Given the description of an element on the screen output the (x, y) to click on. 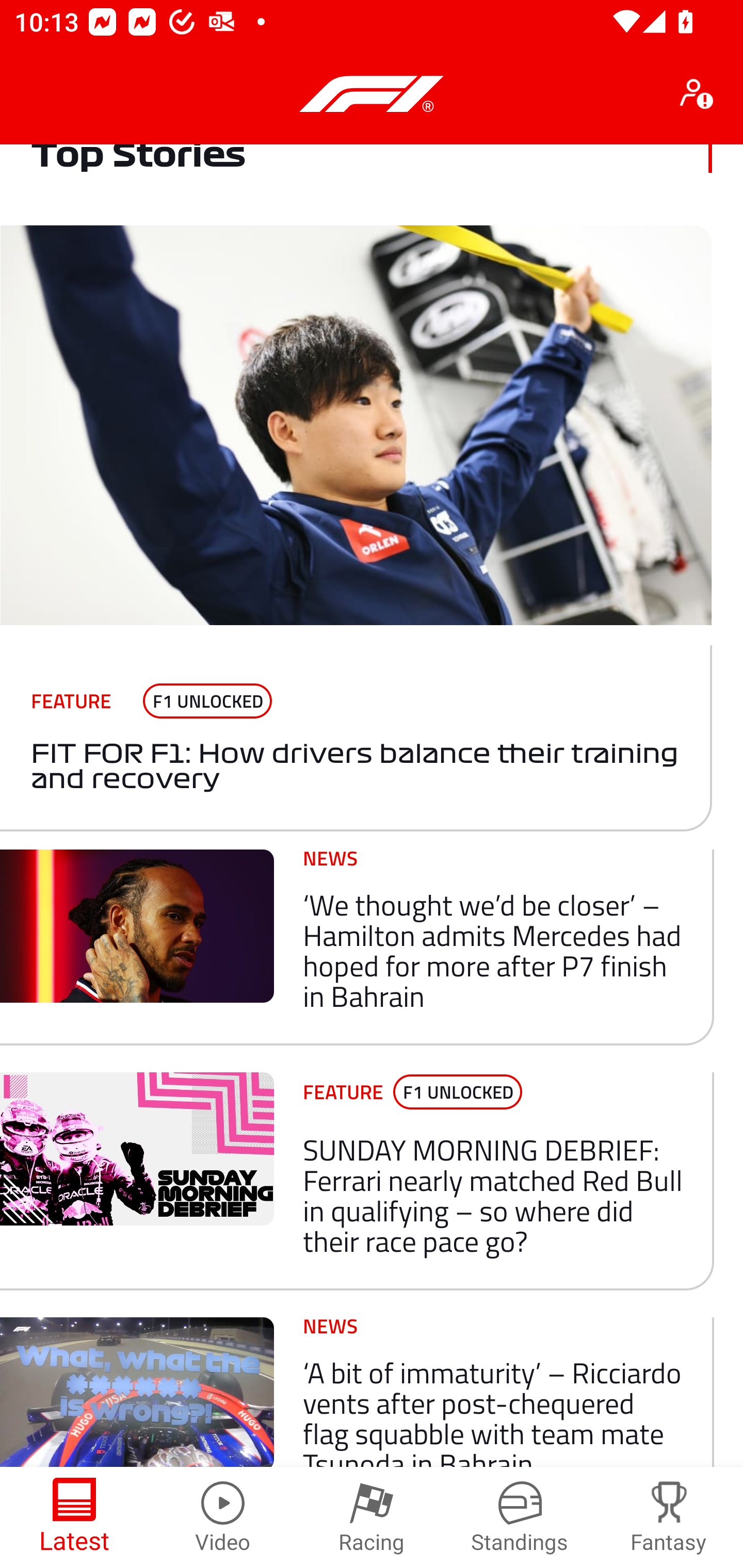
Video (222, 1517)
Racing (371, 1517)
Standings (519, 1517)
Fantasy (668, 1517)
